Given the description of an element on the screen output the (x, y) to click on. 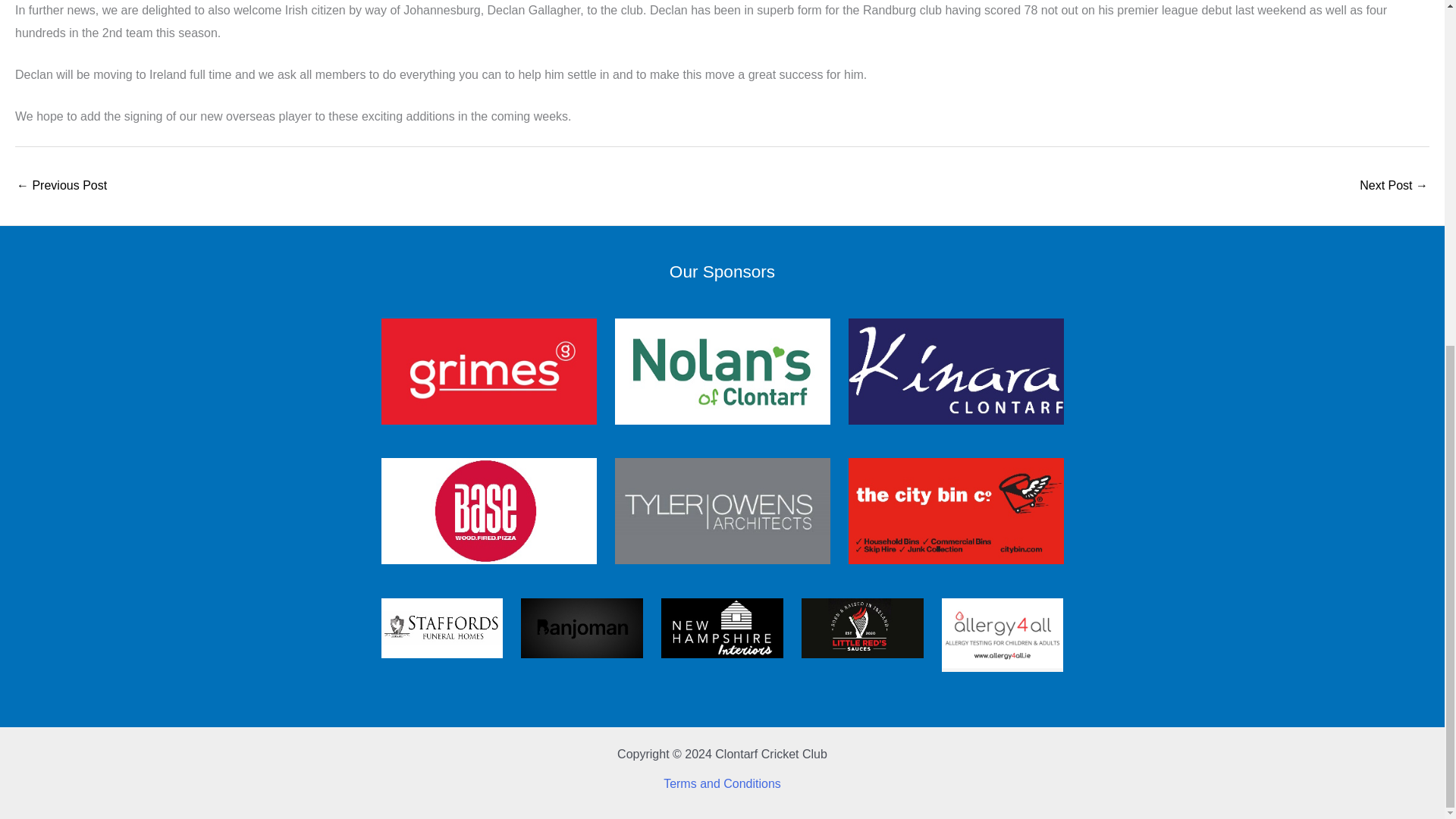
Candlelit Dinner - Save the Date (1393, 186)
Annual Club Dinner (61, 186)
